Given the description of an element on the screen output the (x, y) to click on. 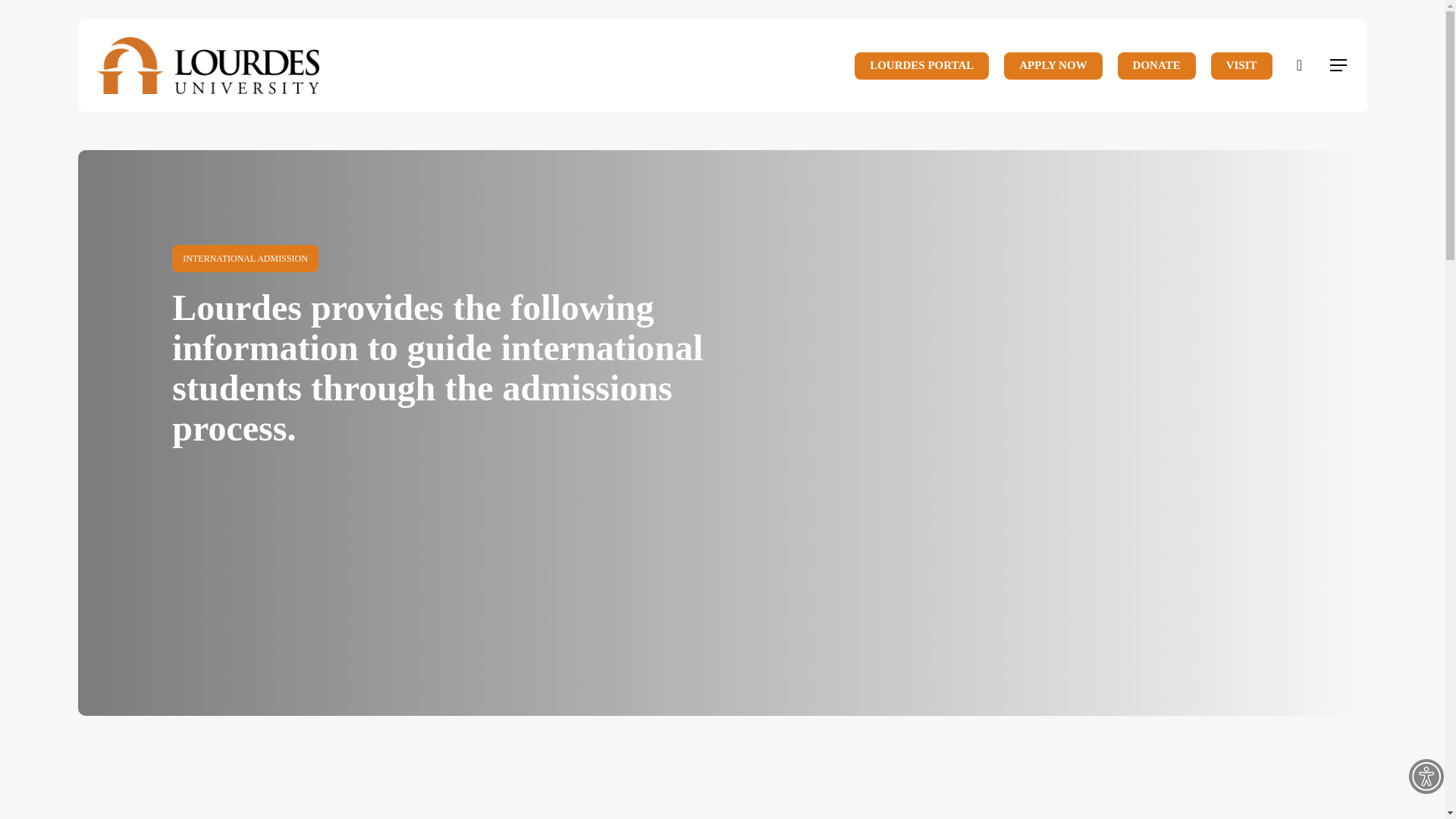
APPLY NOW (1053, 65)
LOURDES PORTAL (921, 65)
VISIT (1241, 65)
Menu (1339, 65)
INTERNATIONAL ADMISSION (244, 257)
Accessibility Helper sidebar (1425, 776)
search (1299, 65)
DONATE (1156, 65)
